Given the description of an element on the screen output the (x, y) to click on. 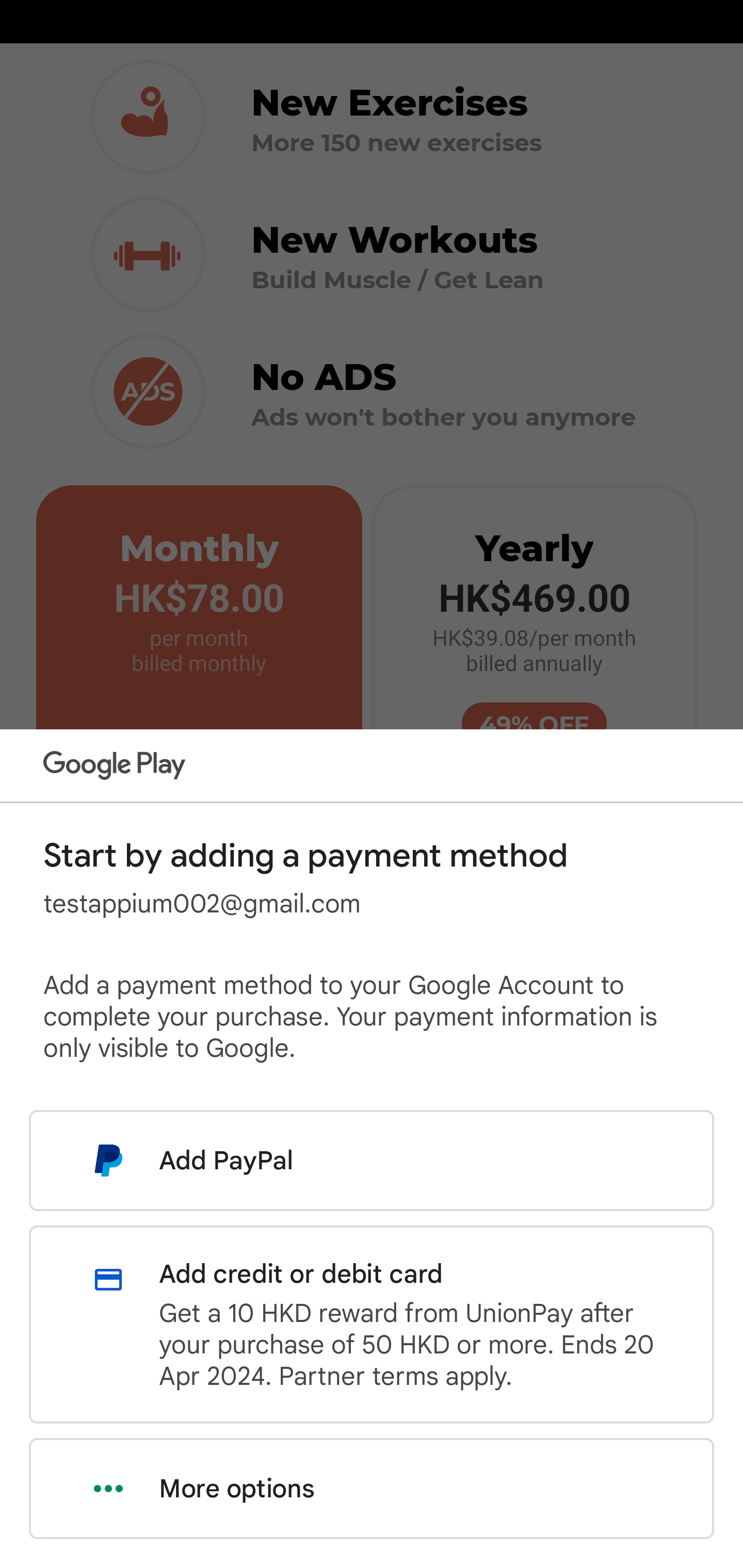
Add PayPal (371, 1160)
More options (371, 1488)
